Given the description of an element on the screen output the (x, y) to click on. 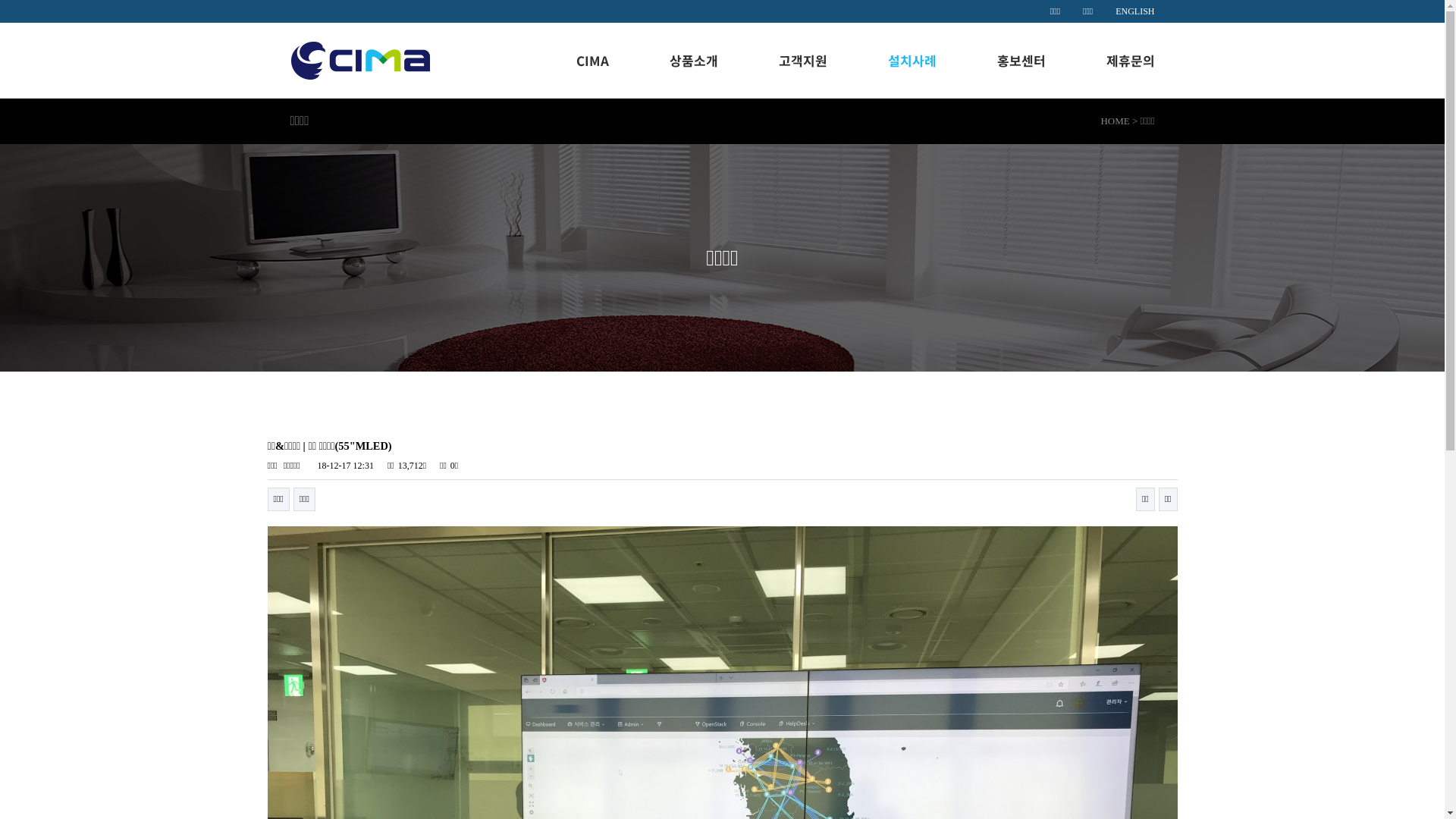
HOME Element type: text (1114, 120)
CIMA Element type: text (592, 60)
ENGLISH Element type: text (1134, 11)
